Given the description of an element on the screen output the (x, y) to click on. 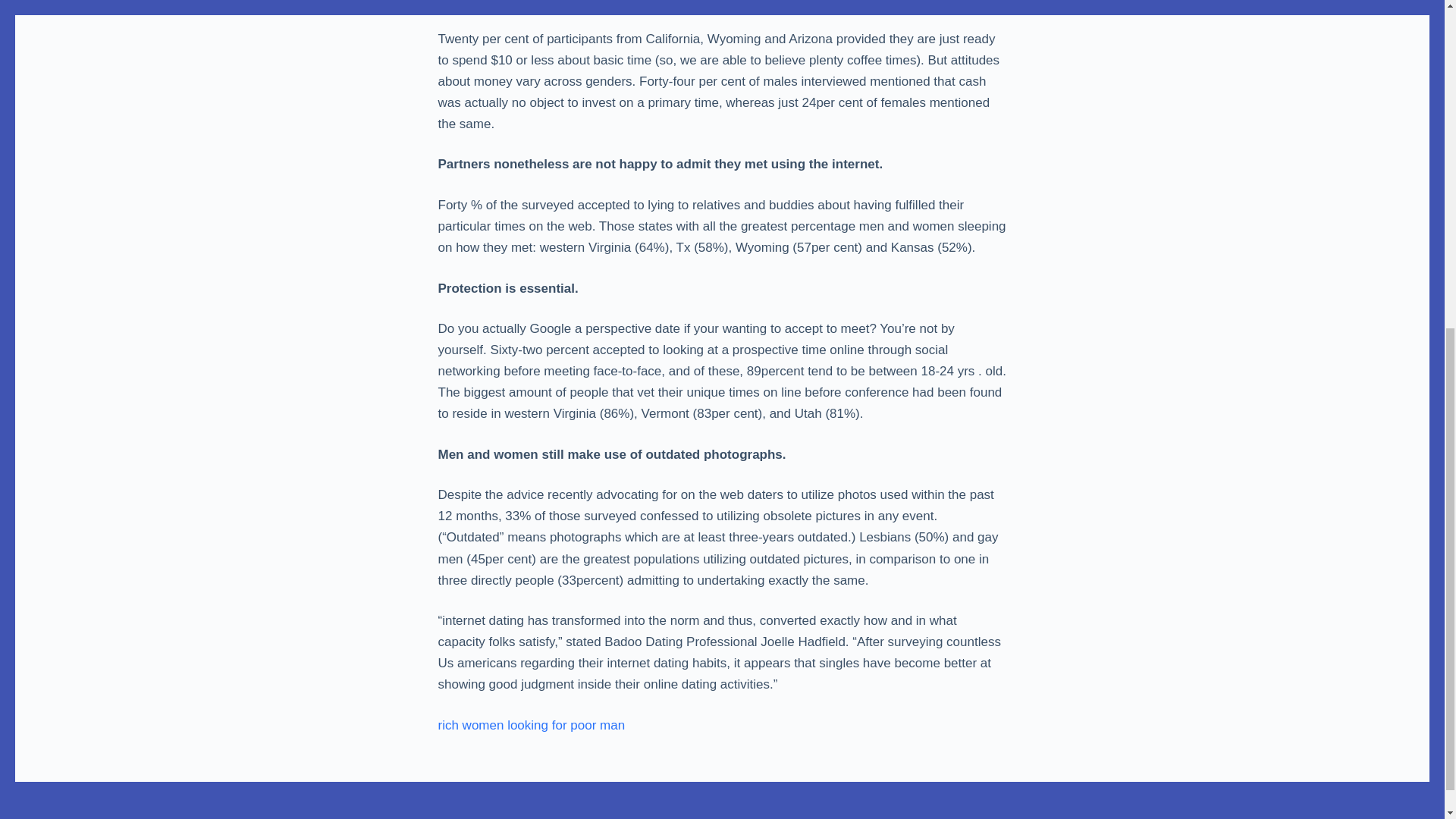
rich women looking for poor man (532, 725)
